Given the description of an element on the screen output the (x, y) to click on. 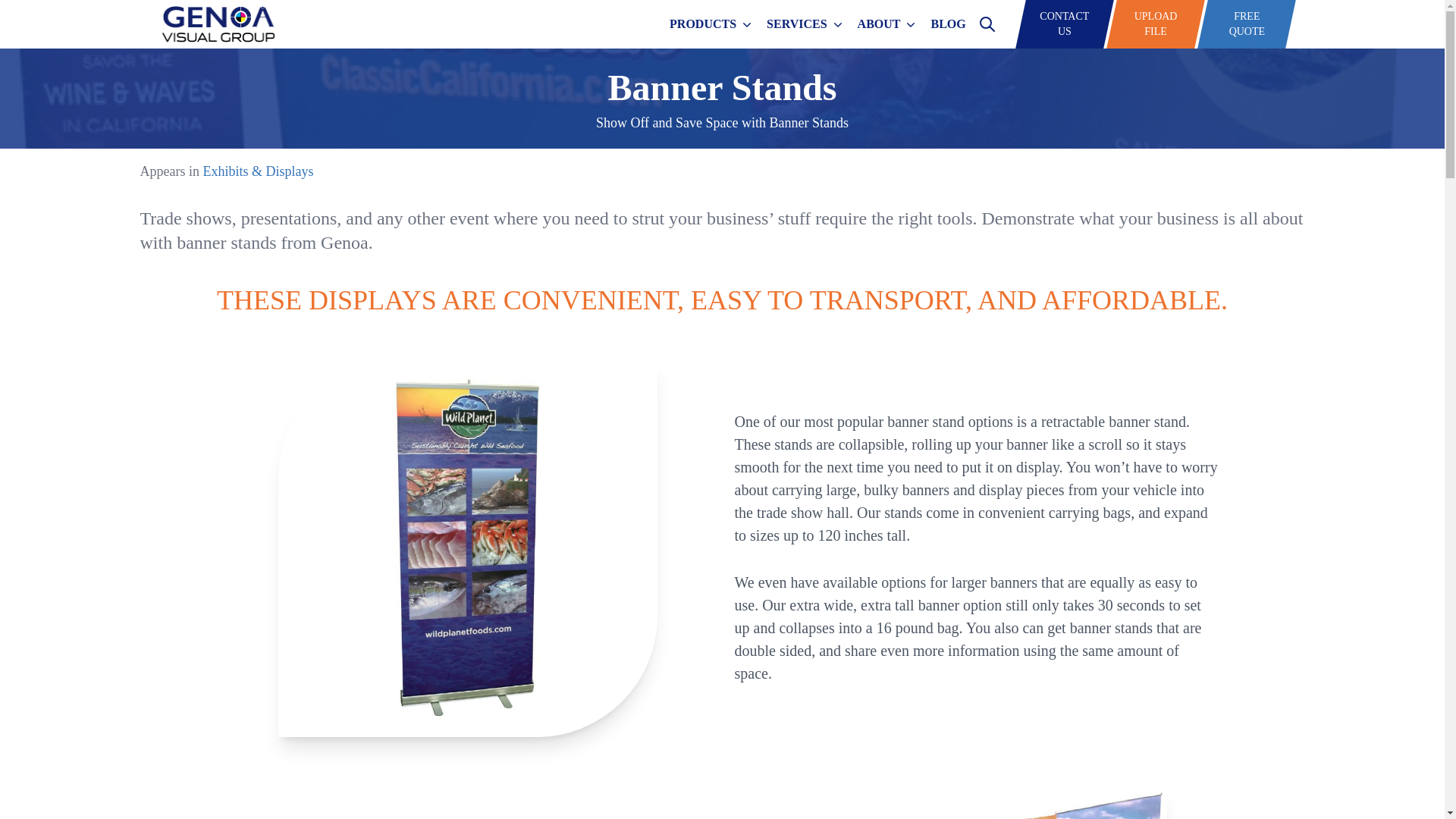
BLOG (1155, 24)
